Given the description of an element on the screen output the (x, y) to click on. 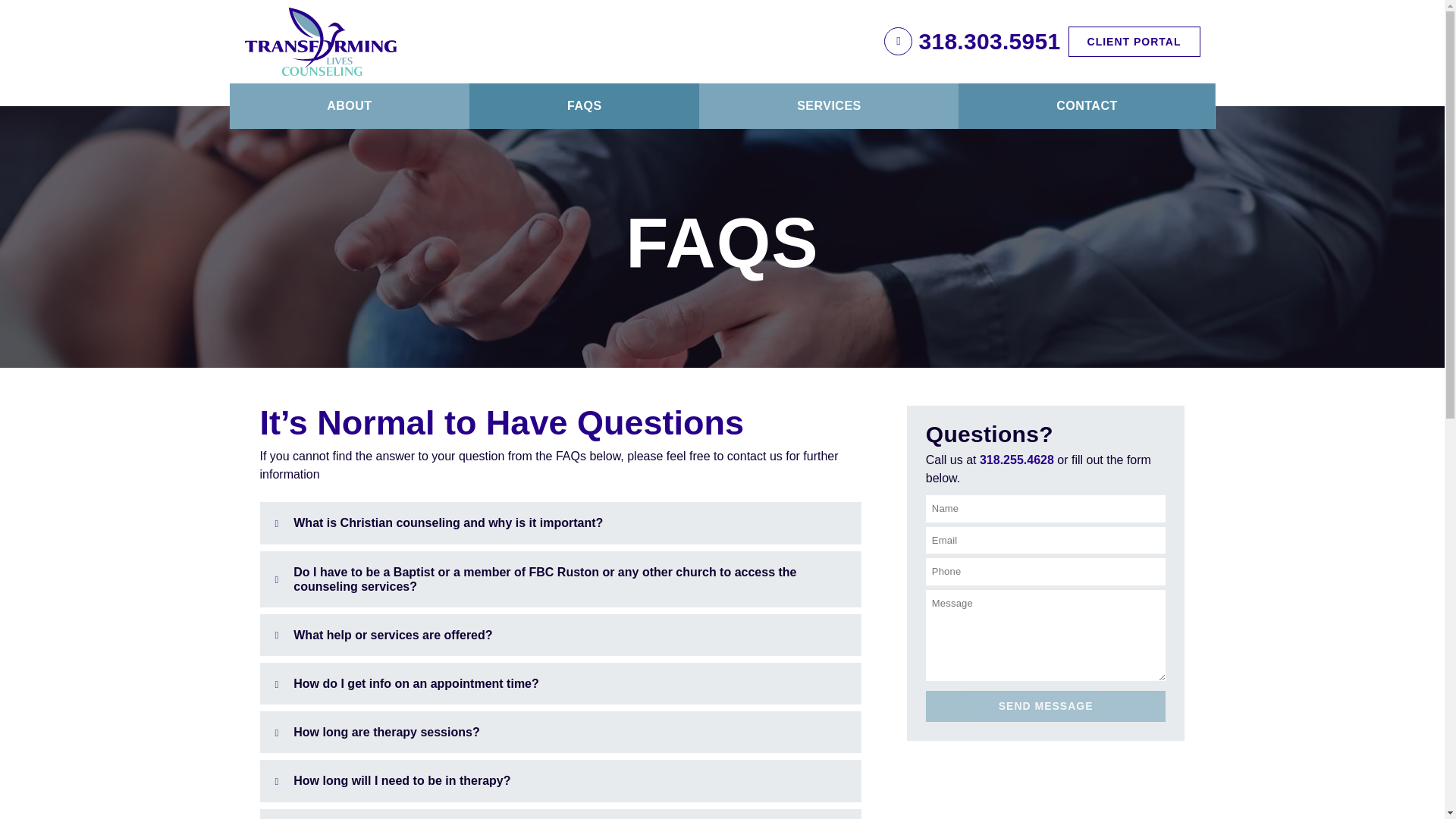
CLIENT PORTAL (1133, 41)
318.303.5951 (988, 41)
FAQS (583, 105)
Send Message (1046, 706)
SERVICES (828, 105)
CONTACT (1086, 105)
ABOUT (348, 105)
